Given the description of an element on the screen output the (x, y) to click on. 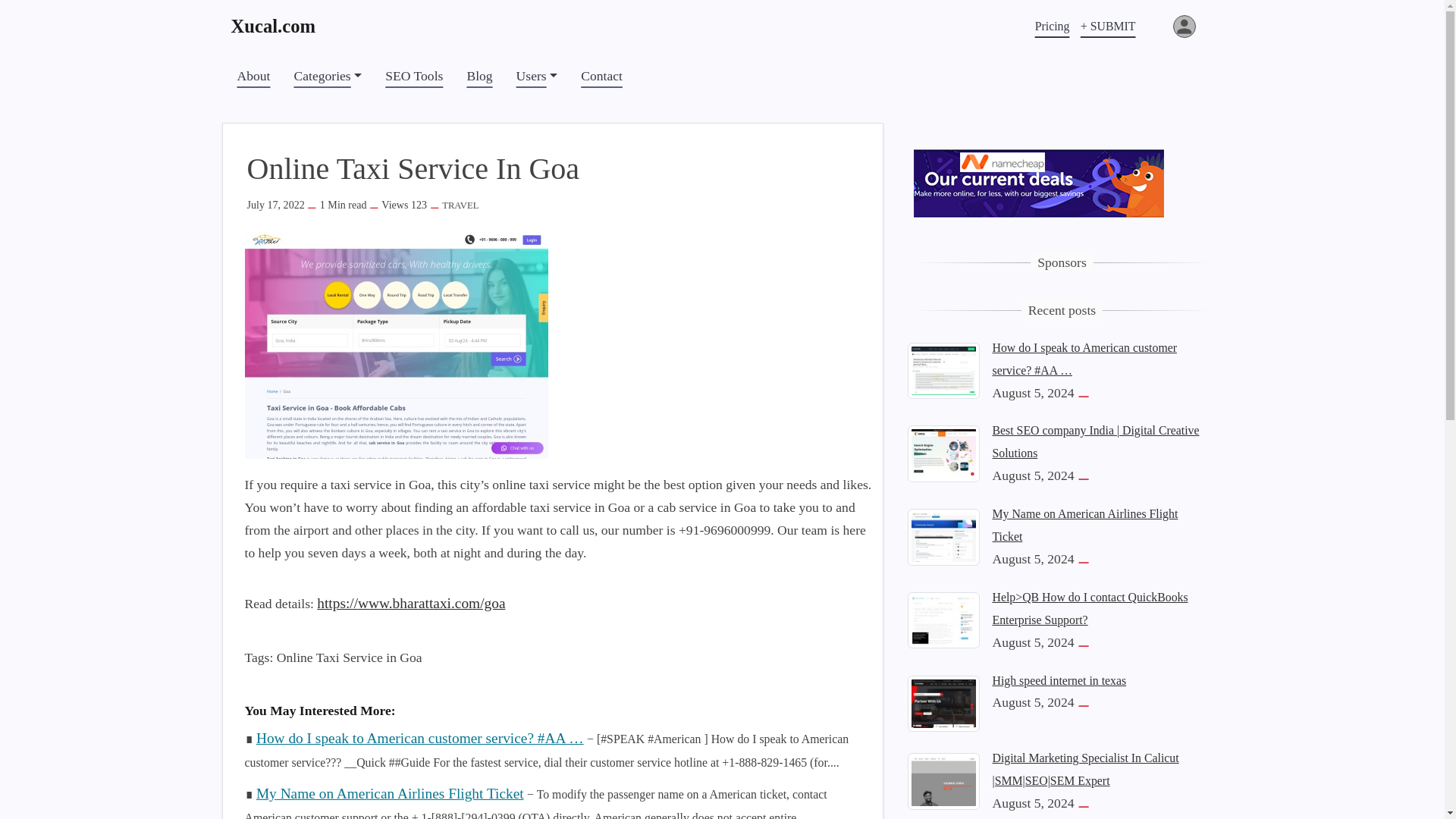
Xucal.com (280, 25)
My Name on American Airlines Flight Ticket (390, 793)
Blog (478, 76)
My Name on American Airlines Flight Ticket (390, 793)
Categories (327, 76)
TRAVEL (460, 204)
My Name on American Airlines Flight Ticket (1084, 524)
My Name on American Airlines Flight Ticket (943, 534)
SEO Tools (413, 76)
My Name on American Airlines Flight Ticket (1084, 524)
Pricing (1052, 25)
About (253, 76)
Contact (601, 76)
Users (537, 76)
